Given the description of an element on the screen output the (x, y) to click on. 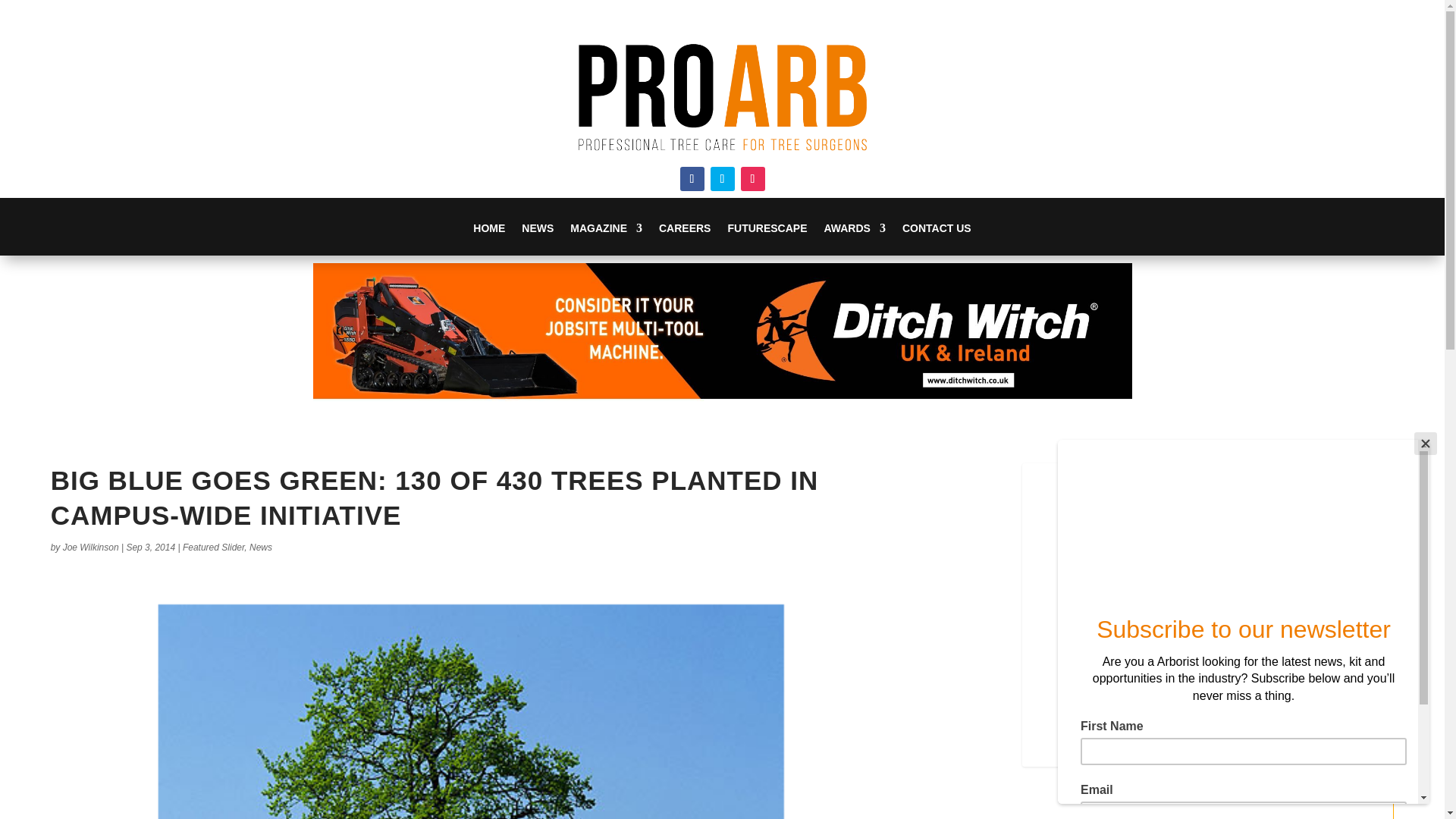
MAGAZINE (606, 238)
HOME (489, 238)
NEWS (537, 238)
Follow on Instagram (751, 178)
Posts by Joe Wilkinson (90, 547)
Follow on Facebook (691, 178)
Follow on Twitter (721, 178)
